Given the description of an element on the screen output the (x, y) to click on. 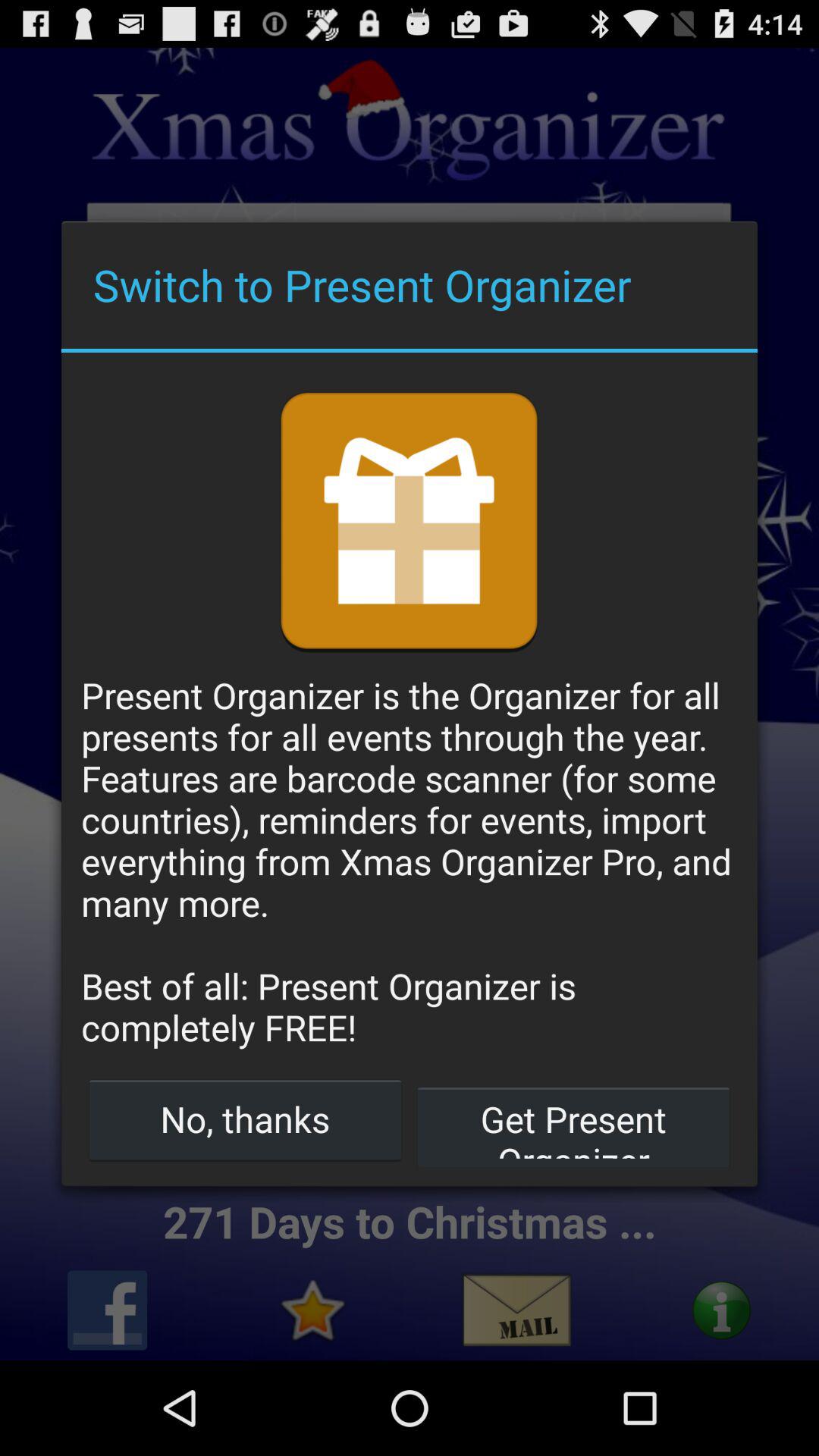
choose the item to the left of the get present organizer item (245, 1119)
